Given the description of an element on the screen output the (x, y) to click on. 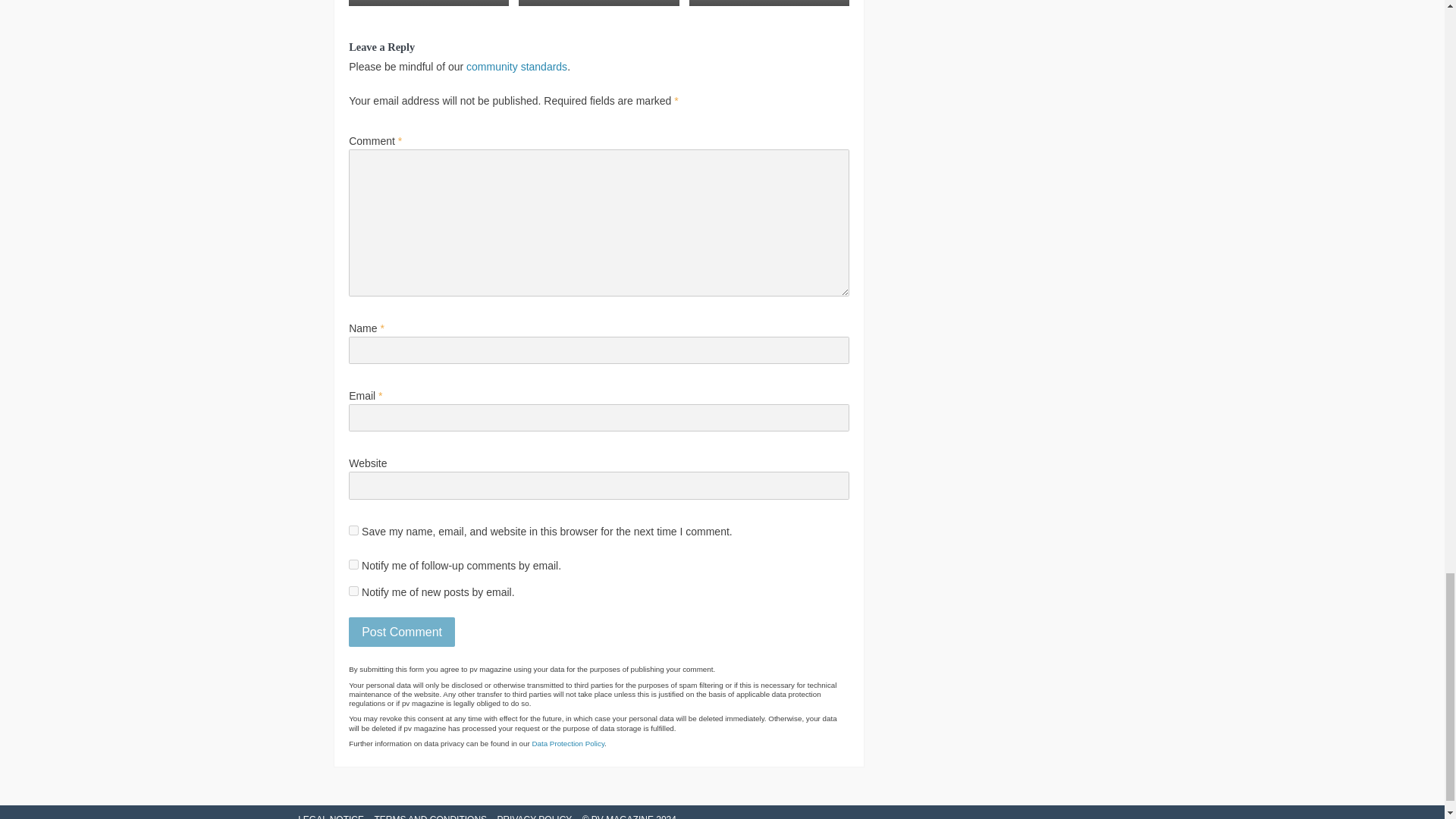
subscribe (353, 564)
yes (353, 530)
subscribe (353, 591)
Post Comment (401, 632)
